Given the description of an element on the screen output the (x, y) to click on. 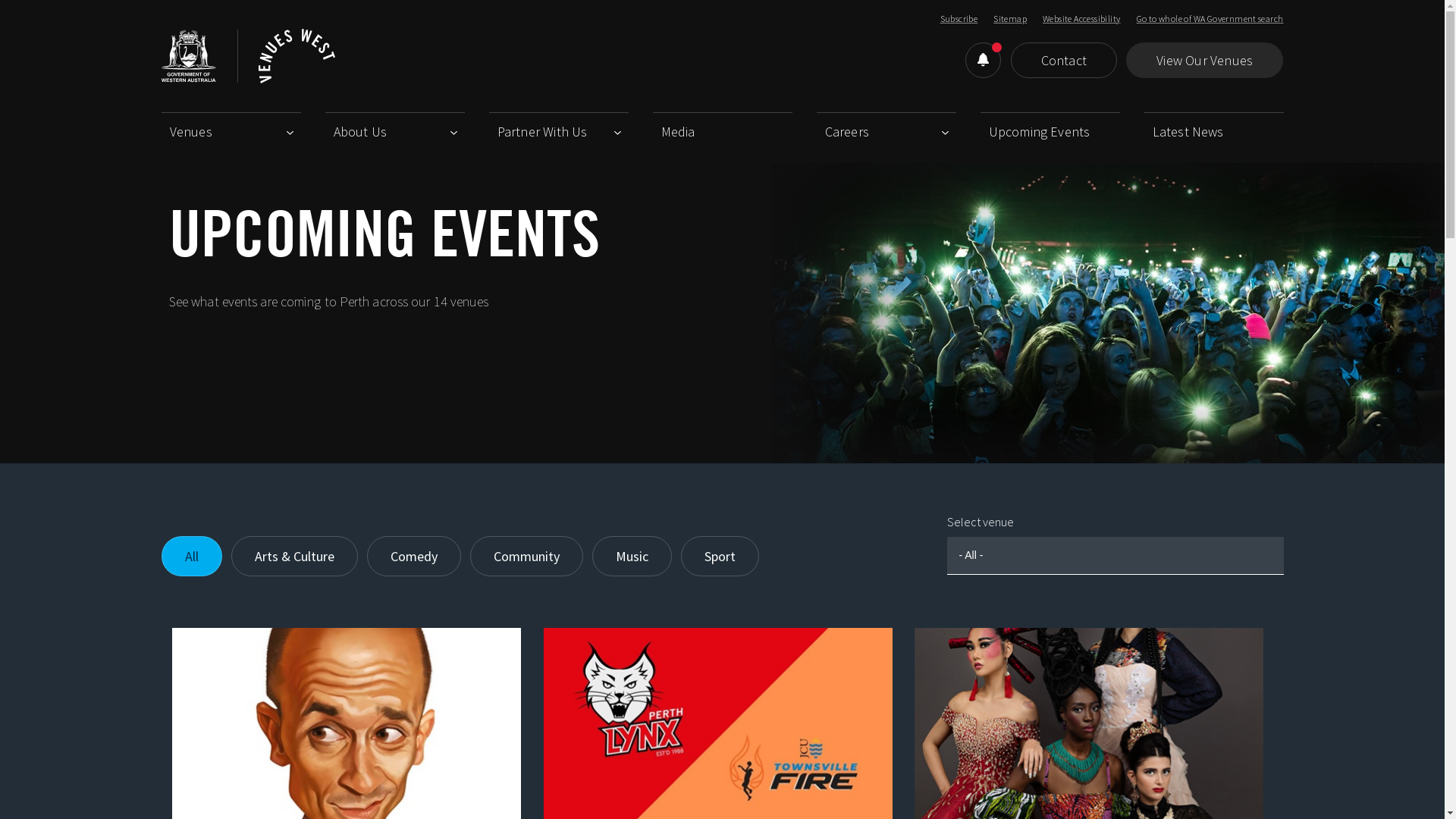
Careers Element type: text (889, 126)
Contact Element type: text (1063, 60)
View Our Venues Element type: text (1204, 60)
Venues Element type: text (234, 126)
Latest News Element type: text (1217, 126)
Subscribe Element type: text (959, 18)
Go to whole of WA Government search Element type: text (1209, 18)
Sitemap Element type: text (1009, 18)
Partner With Us Element type: text (562, 126)
Upcoming Events Element type: text (1053, 126)
Media Element type: text (726, 126)
Website Accessibility Element type: text (1081, 18)
About Us Element type: text (398, 126)
